Given the description of an element on the screen output the (x, y) to click on. 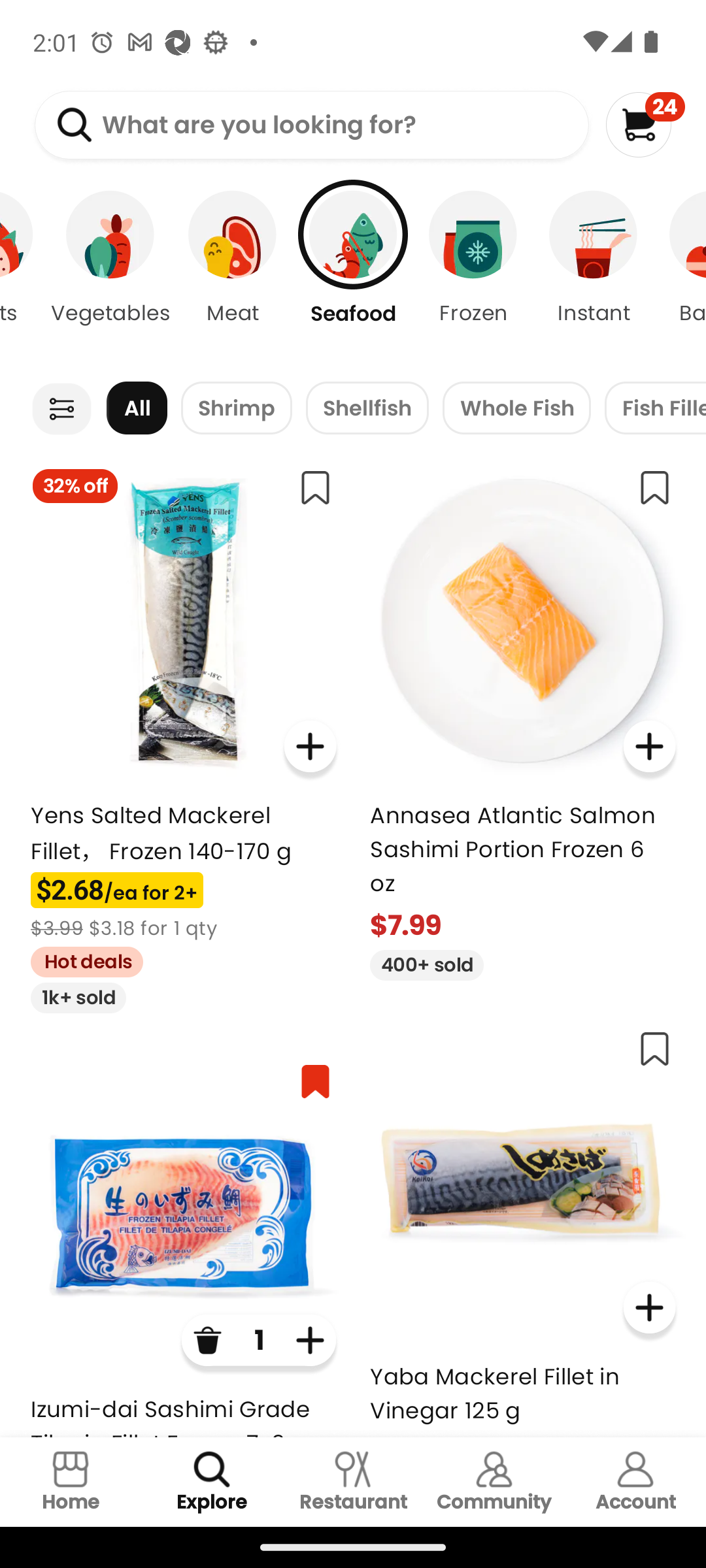
What are you looking for? (311, 124)
24 (644, 124)
Vegetables (110, 274)
Meat (232, 274)
Seafood (352, 274)
Frozen (473, 274)
Instant (593, 274)
All (136, 407)
Shrimp (236, 407)
Shellfish (366, 407)
Whole Fish (516, 407)
Fish Fillets & Steaks (655, 407)
Hot deals (79, 958)
Yaba Mackerel Fillet in Vinegar 125 g $3.99 (522, 1225)
Home (70, 1482)
Explore (211, 1482)
Restaurant (352, 1482)
Community (493, 1482)
Account (635, 1482)
